Given the description of an element on the screen output the (x, y) to click on. 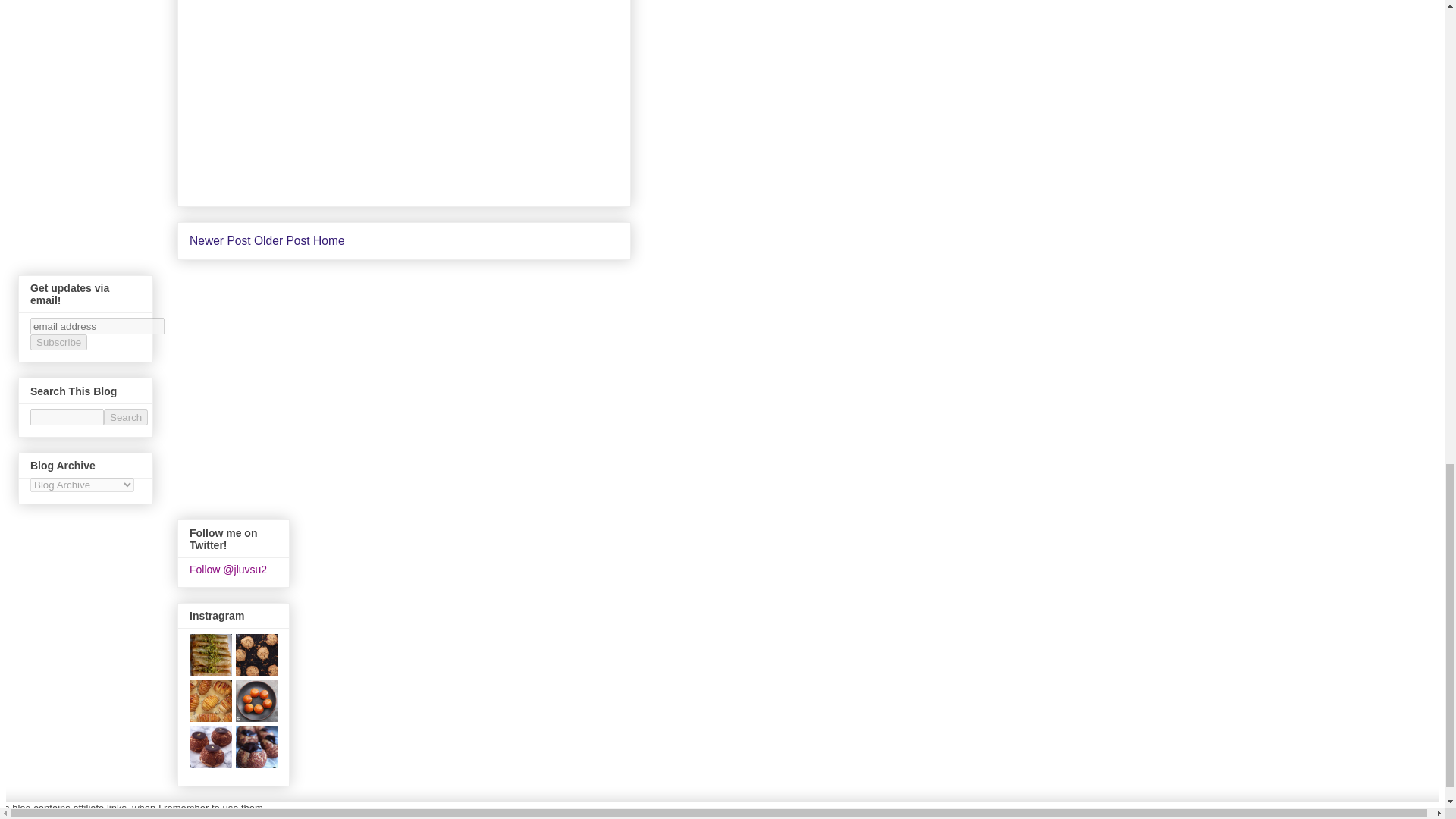
Search (125, 417)
Search (125, 417)
search (66, 417)
Search (125, 417)
Older Post (281, 240)
Subscribe (58, 342)
search (125, 417)
Home (329, 240)
Newer Post (219, 240)
Older Post (281, 240)
Subscribe (58, 342)
Newer Post (219, 240)
